Given the description of an element on the screen output the (x, y) to click on. 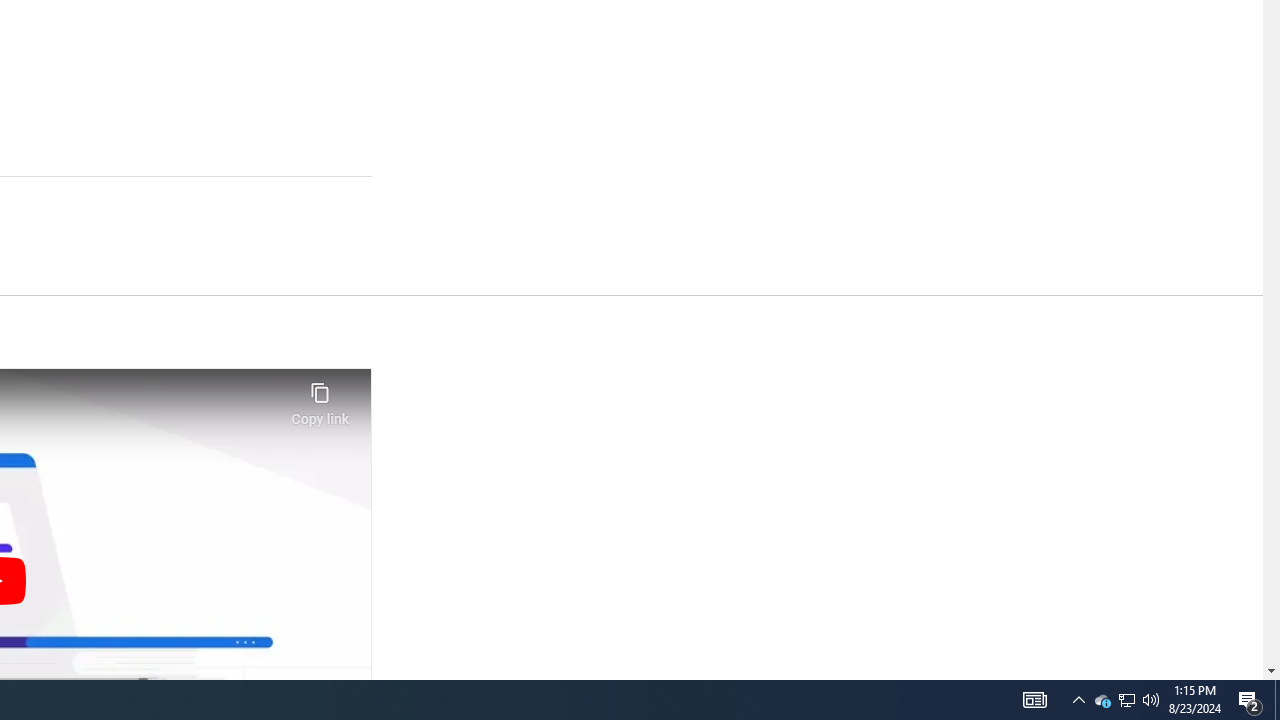
Copy link (319, 398)
